Given the description of an element on the screen output the (x, y) to click on. 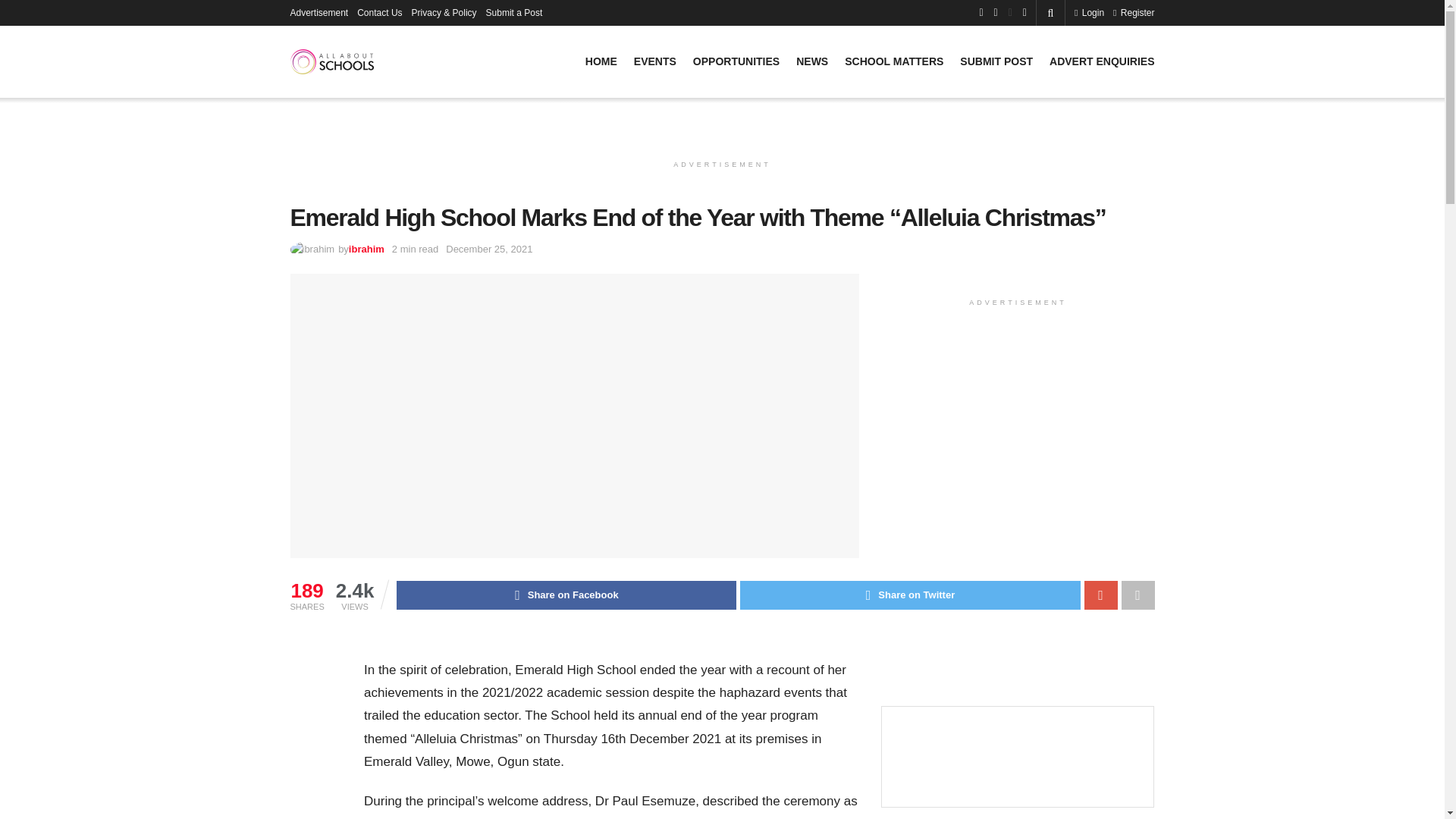
Register (1133, 12)
ibrahim (366, 248)
SCHOOL MATTERS (893, 61)
Contact Us (378, 12)
Advertisement (318, 12)
Login (1088, 12)
SUBMIT POST (995, 61)
OPPORTUNITIES (735, 61)
Submit a Post (514, 12)
December 25, 2021 (488, 248)
